Given the description of an element on the screen output the (x, y) to click on. 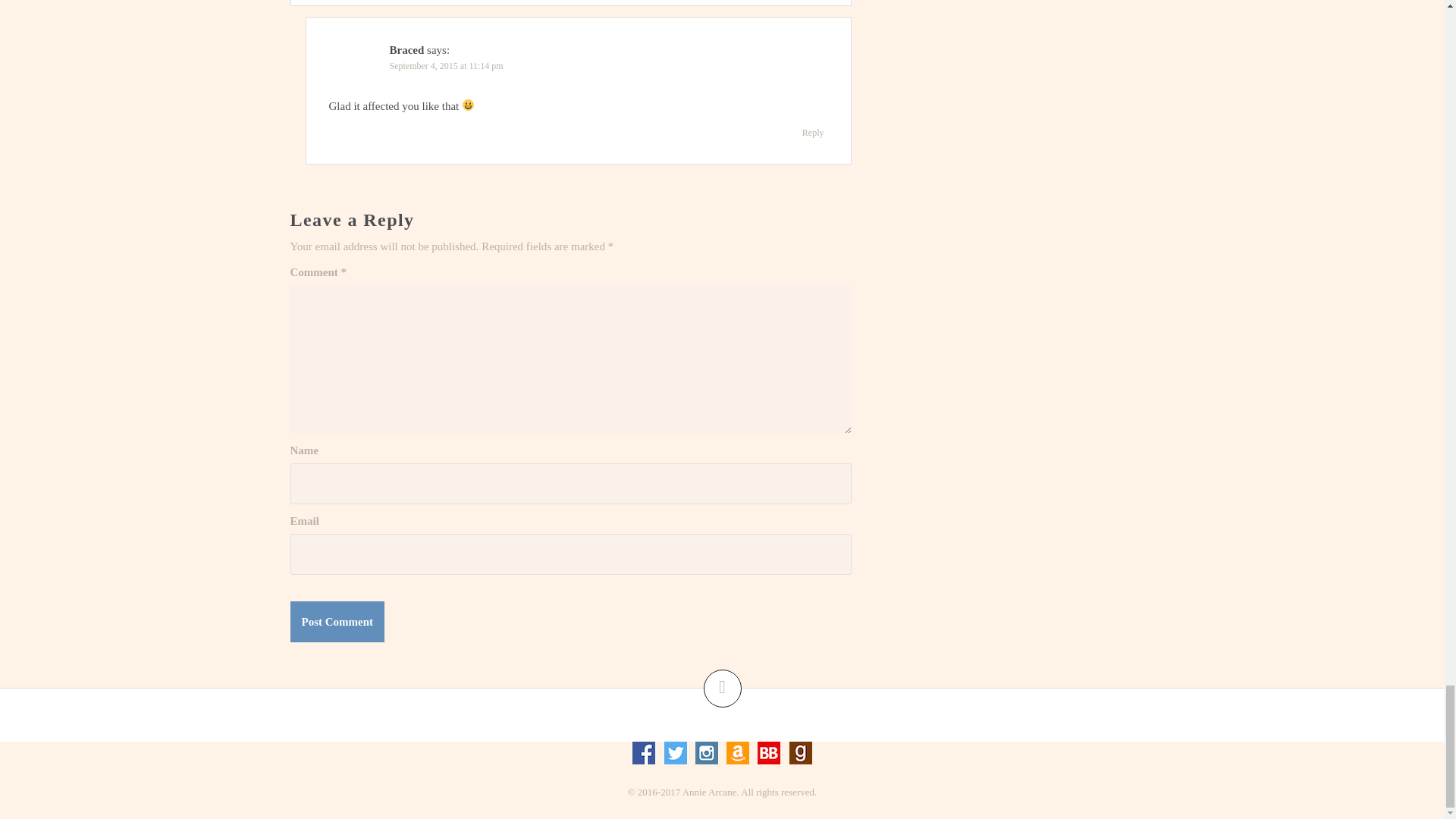
Post Comment (336, 621)
Reply (812, 132)
Post Comment (336, 621)
September 4, 2015 at 11:14 pm (446, 65)
